Given the description of an element on the screen output the (x, y) to click on. 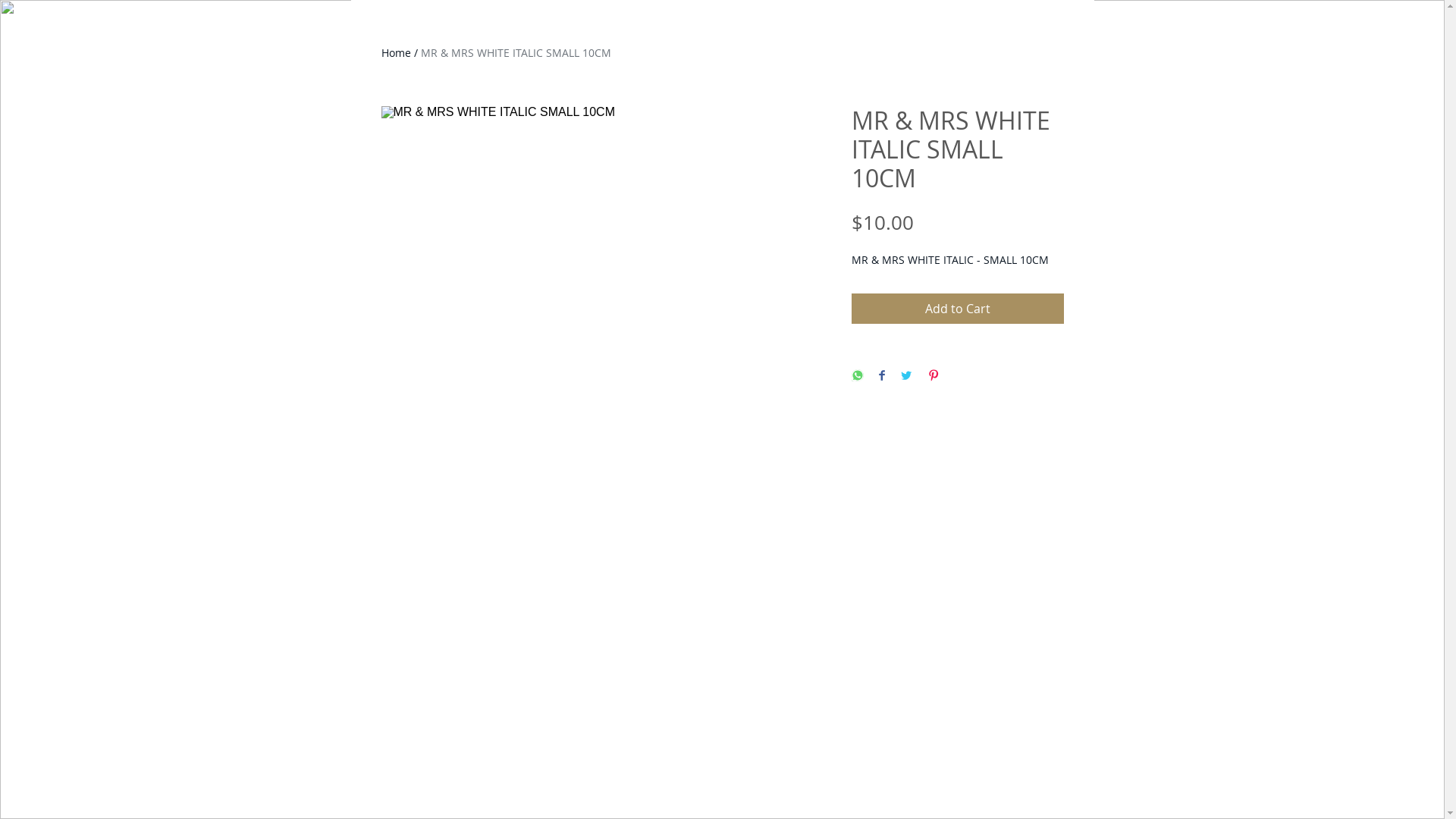
MR & MRS WHITE ITALIC SMALL 10CM Element type: text (515, 52)
Add to Cart Element type: text (956, 308)
Home Element type: text (395, 52)
